Given the description of an element on the screen output the (x, y) to click on. 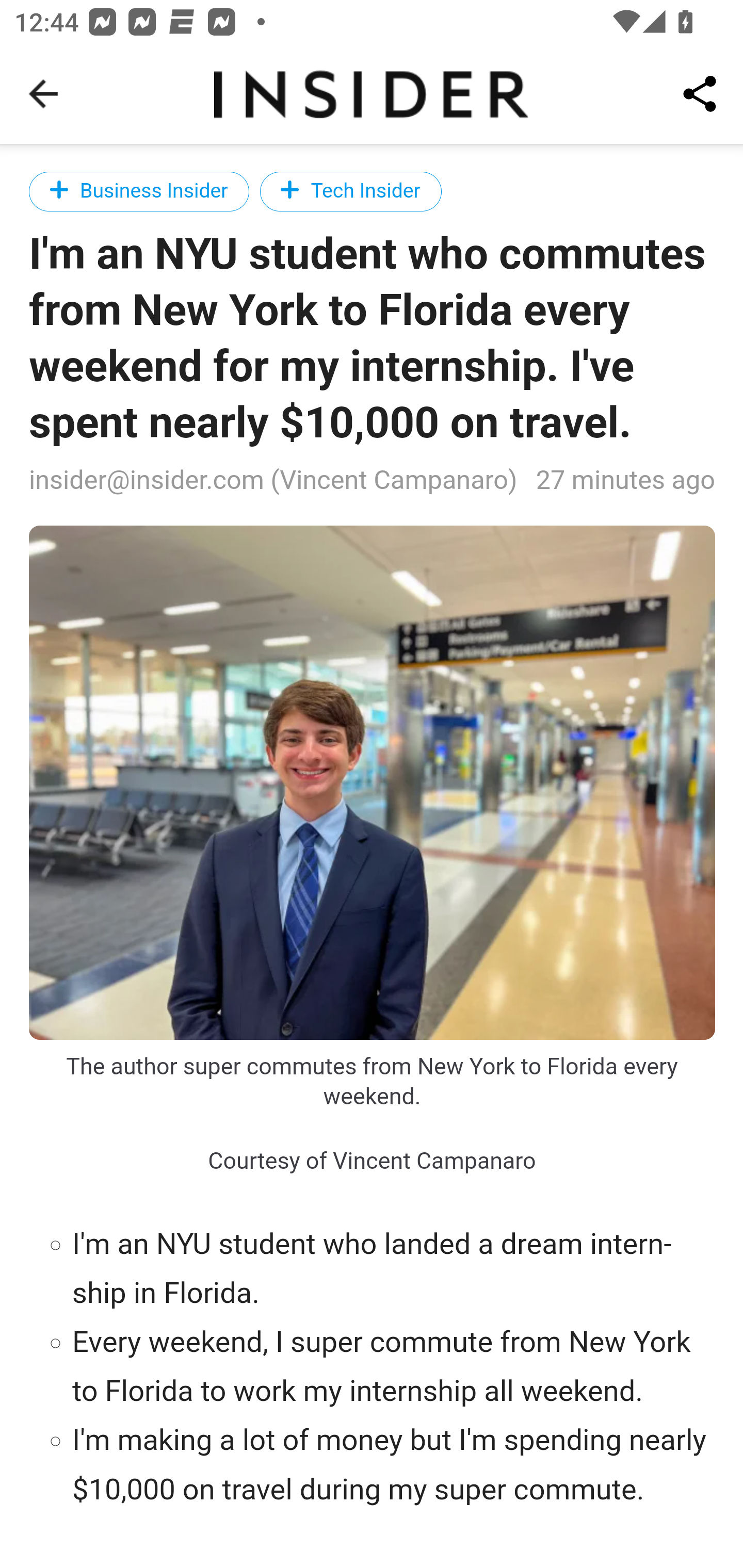
Business Insider (138, 191)
Tech Insider (349, 191)
?url=https%3A%2F%2Fi.insider (372, 782)
